Given the description of an element on the screen output the (x, y) to click on. 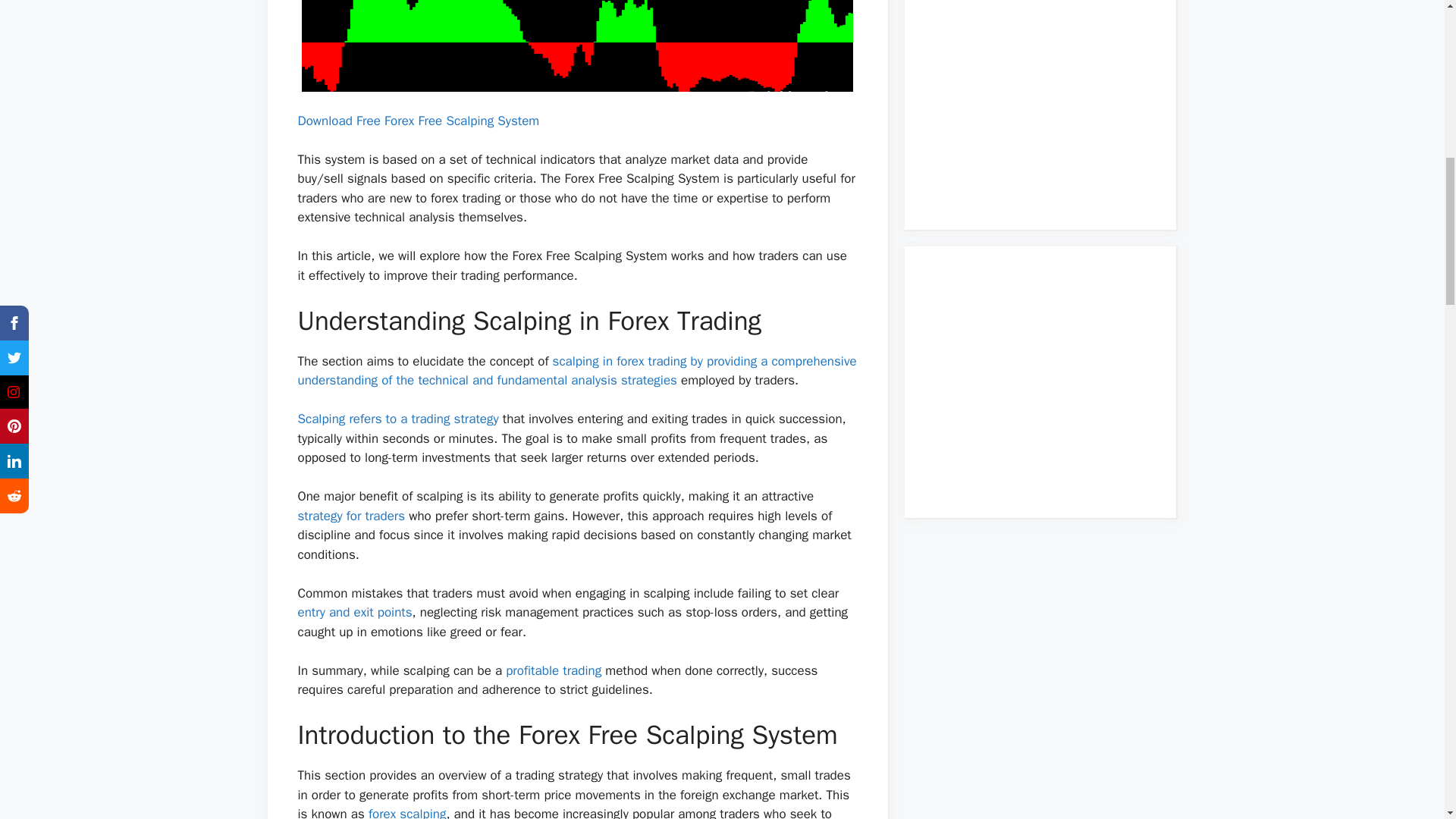
profitable trading (553, 670)
Scalping refers to a trading strategy (397, 418)
Download Free Forex Free Scalping System (417, 120)
forex scalping (407, 812)
entry and exit points (354, 611)
strategy for traders (350, 515)
